Given the description of an element on the screen output the (x, y) to click on. 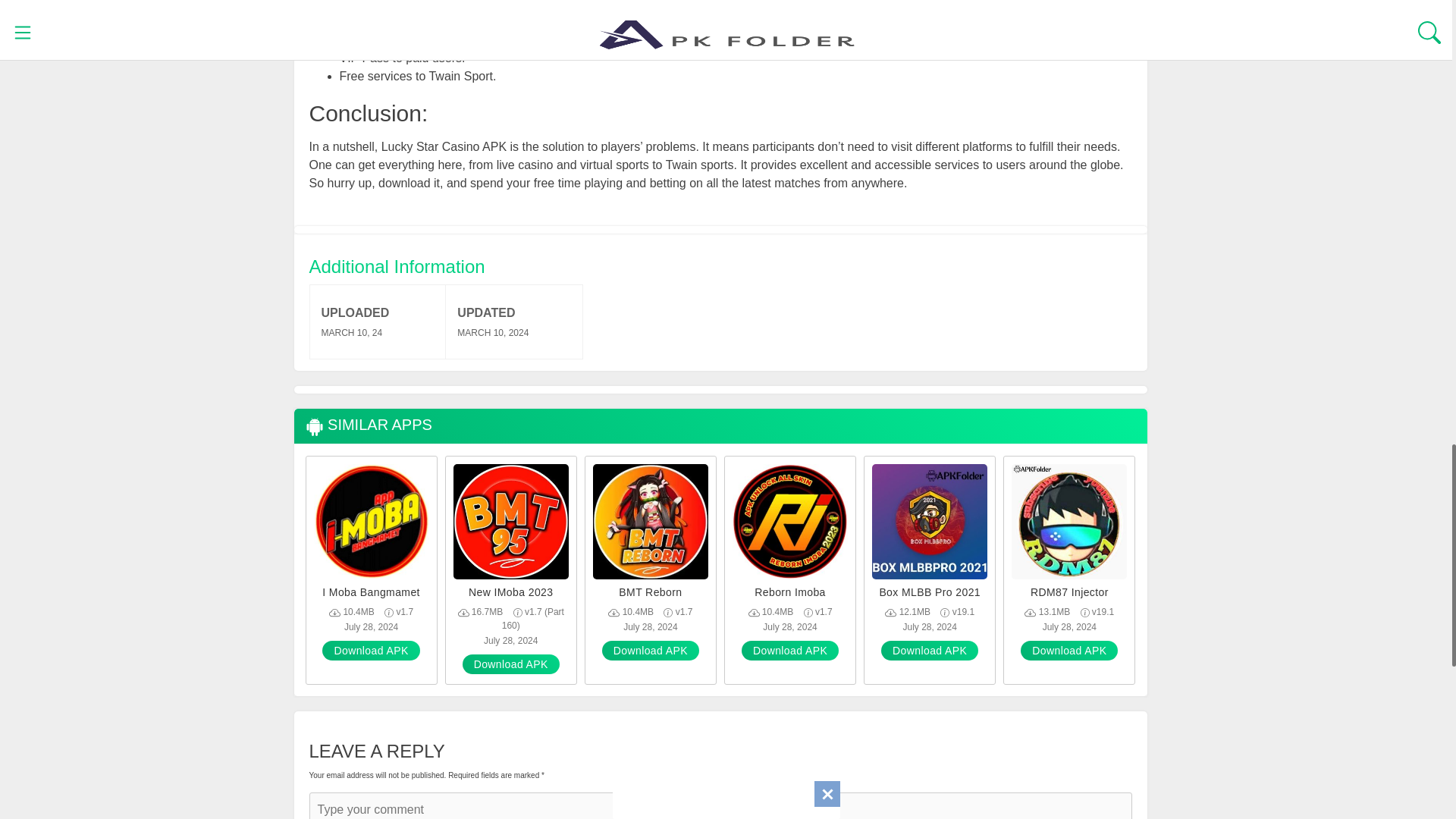
BMT Reborn (649, 592)
Download APK (929, 650)
New IMoba 2023 (510, 592)
I Moba Bangmamet (371, 592)
Reborn Imoba (789, 592)
Download APK (650, 650)
Download APK (370, 650)
 SIMILAR APPS (367, 425)
Download APK (789, 650)
Download APK (1069, 650)
Box MLBB Pro 2021 (929, 592)
Download APK (511, 664)
RDM87 Injector (1068, 592)
